Given the description of an element on the screen output the (x, y) to click on. 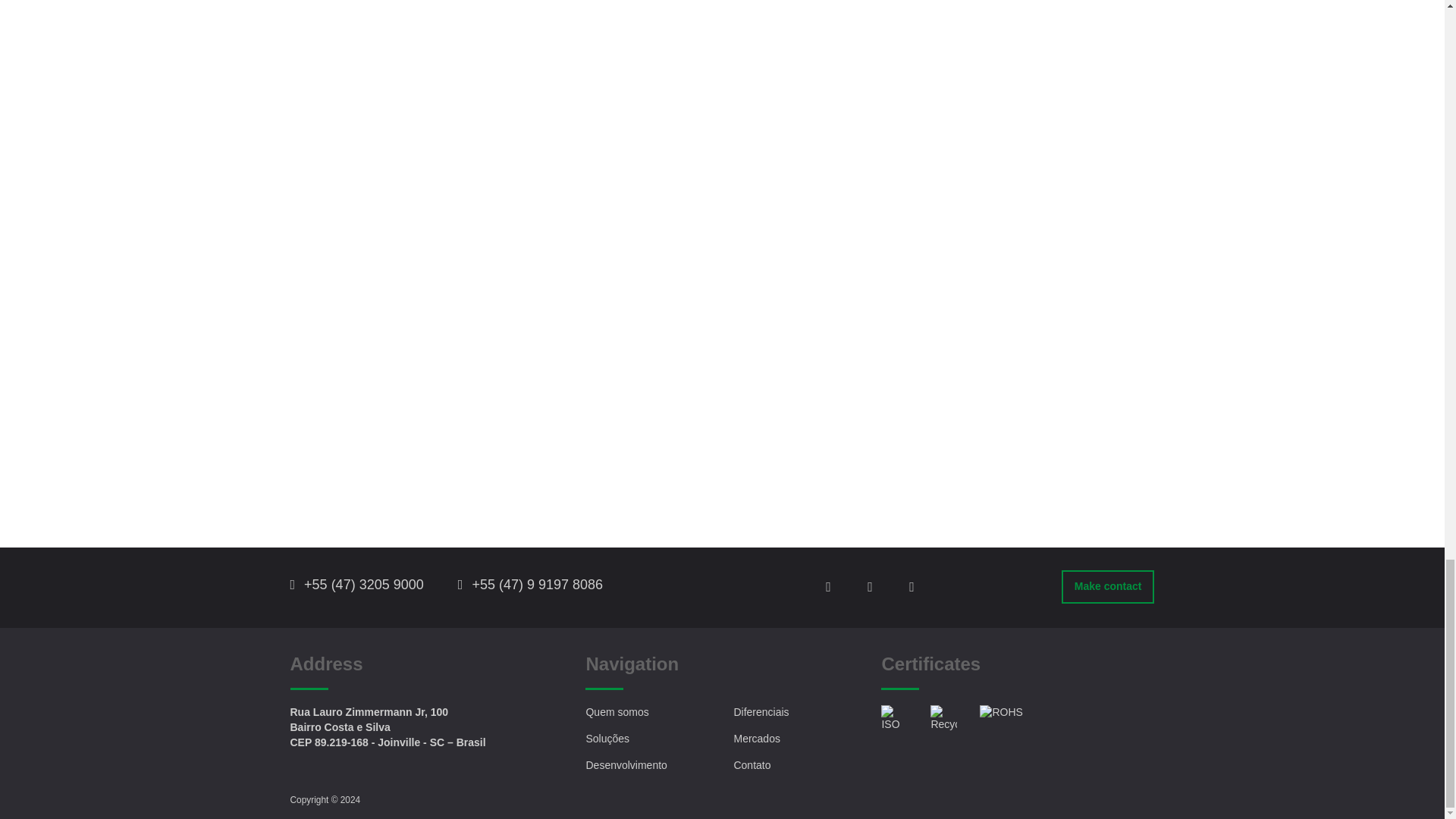
Desenvolvimento (625, 765)
Mercados (755, 738)
Make contact (1107, 586)
Contato (751, 765)
Diferenciais (761, 711)
Quem somos (616, 711)
